Given the description of an element on the screen output the (x, y) to click on. 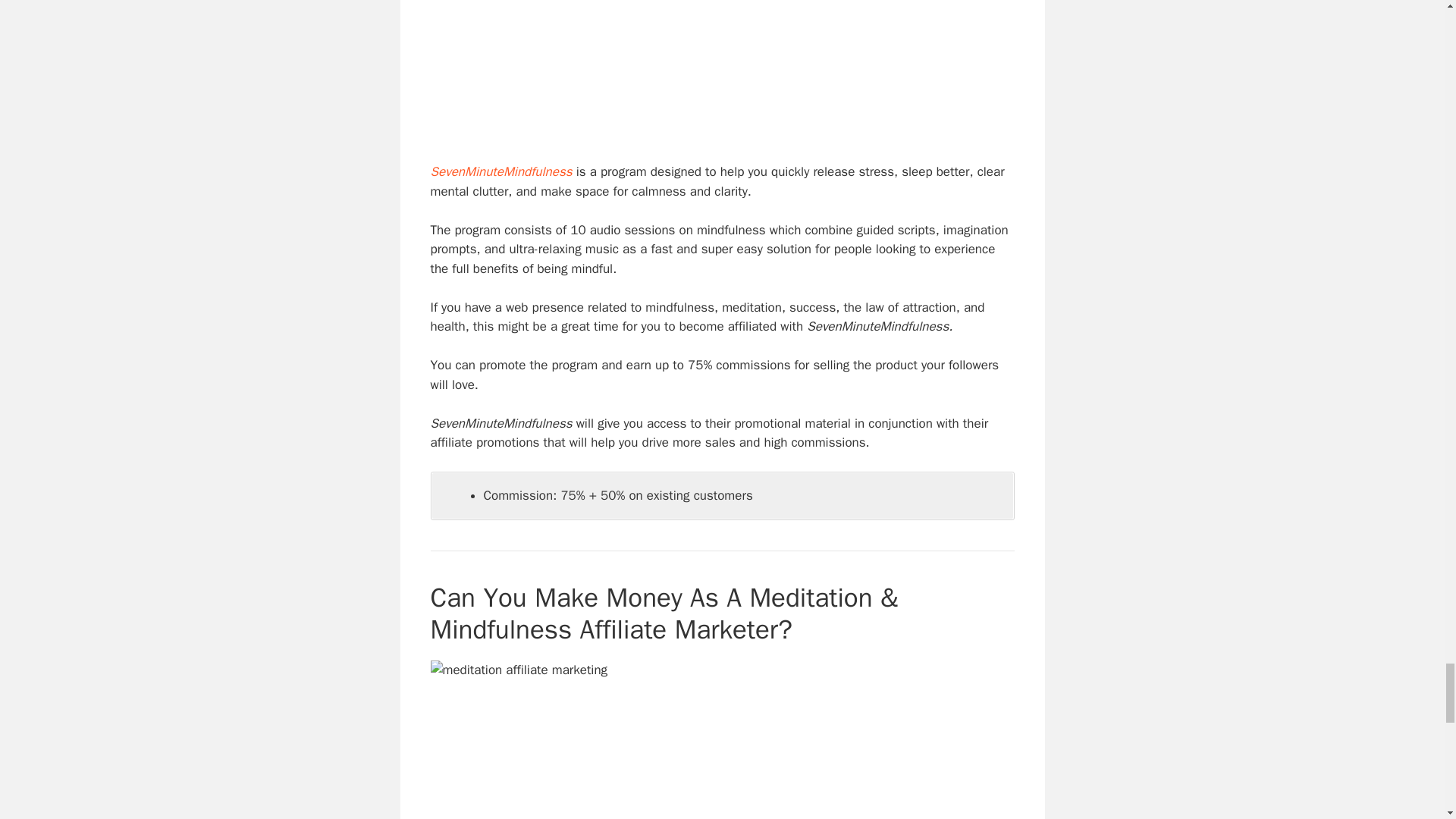
SevenMinuteMindfulness (501, 171)
